Given the description of an element on the screen output the (x, y) to click on. 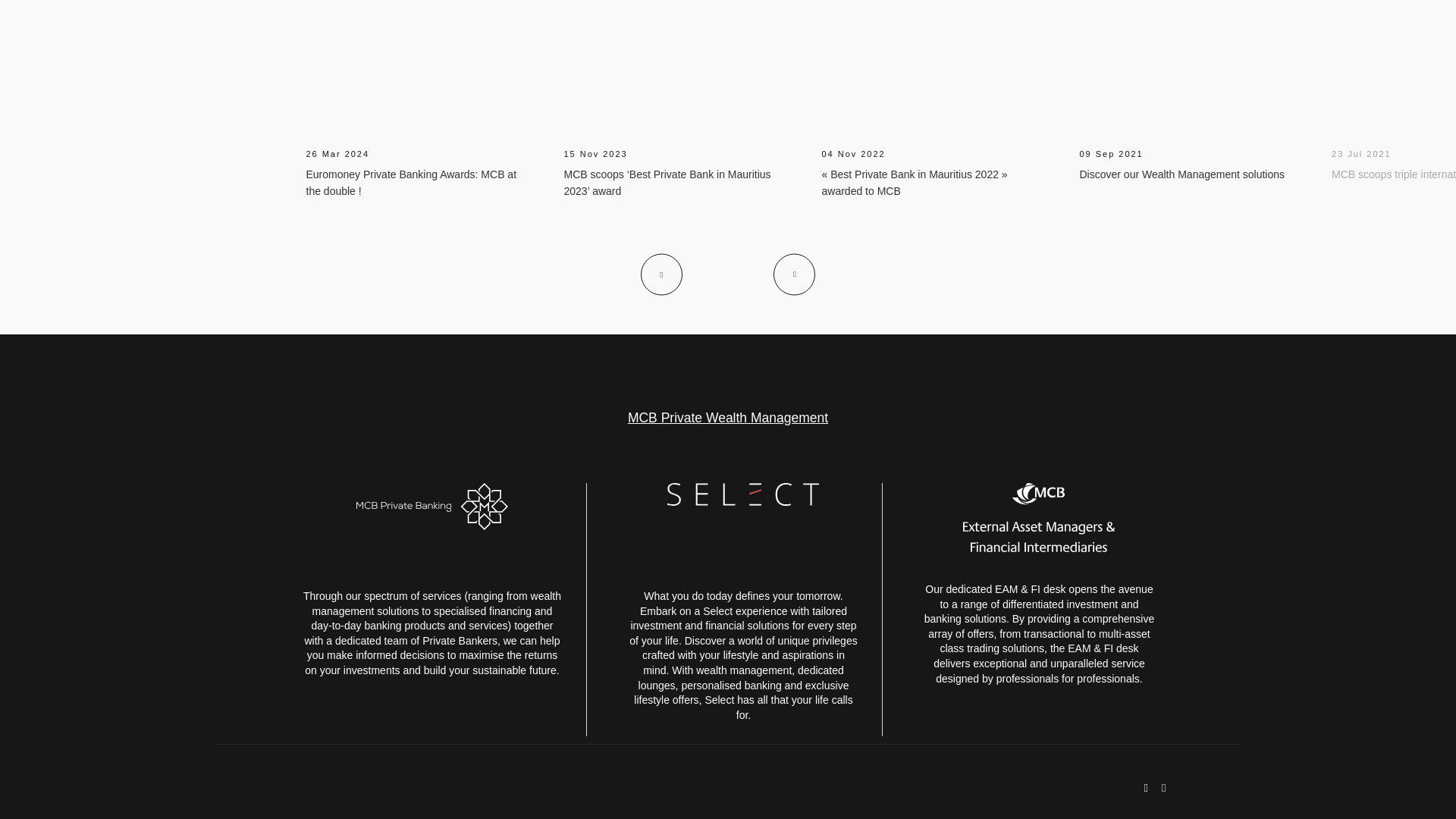
Euromoney Private Banking Awards: MCB at the double ! (410, 182)
Discover our Wealth Management solutions (1182, 174)
